Given the description of an element on the screen output the (x, y) to click on. 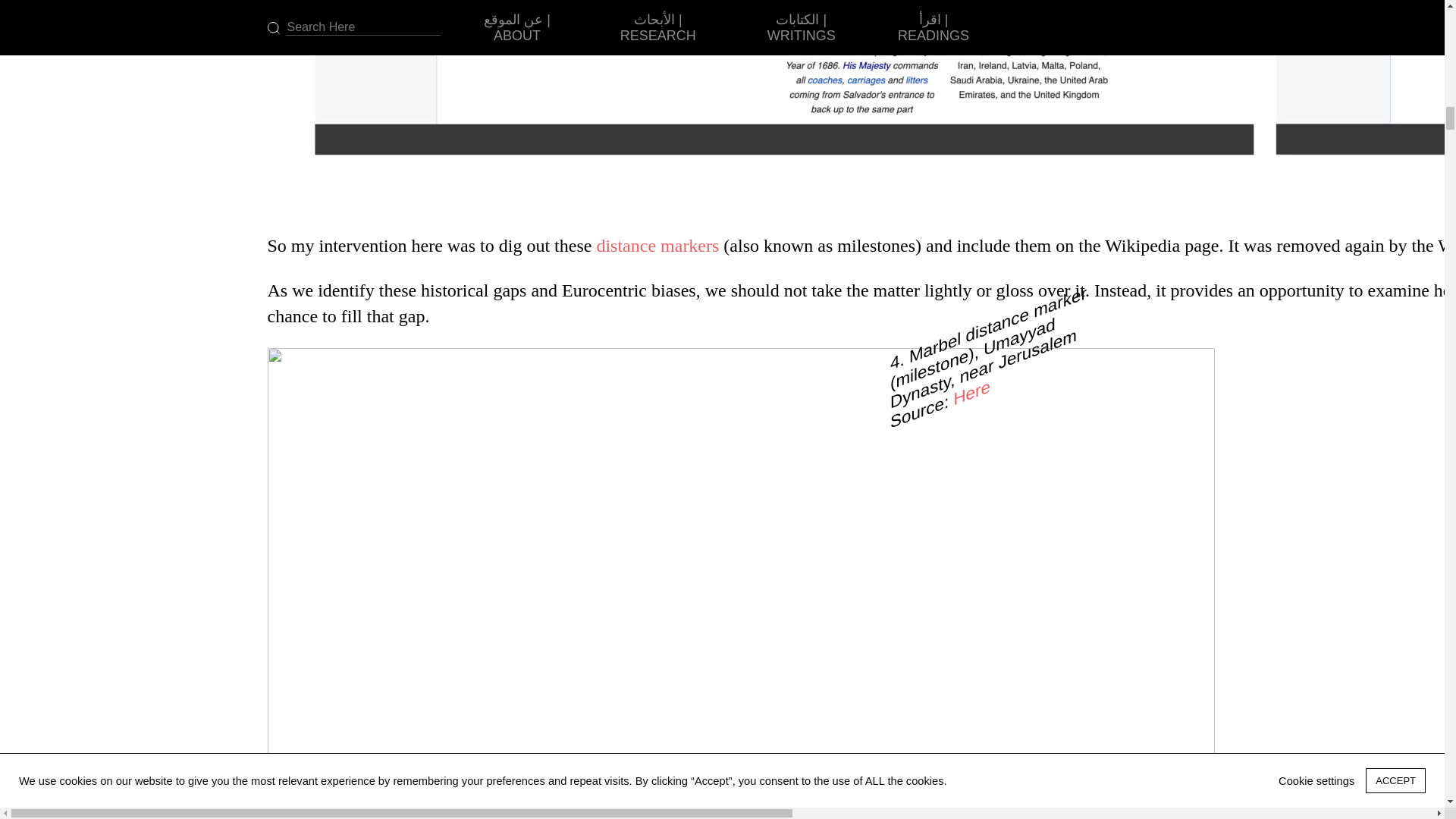
distance markers (657, 245)
Here (971, 384)
